Given the description of an element on the screen output the (x, y) to click on. 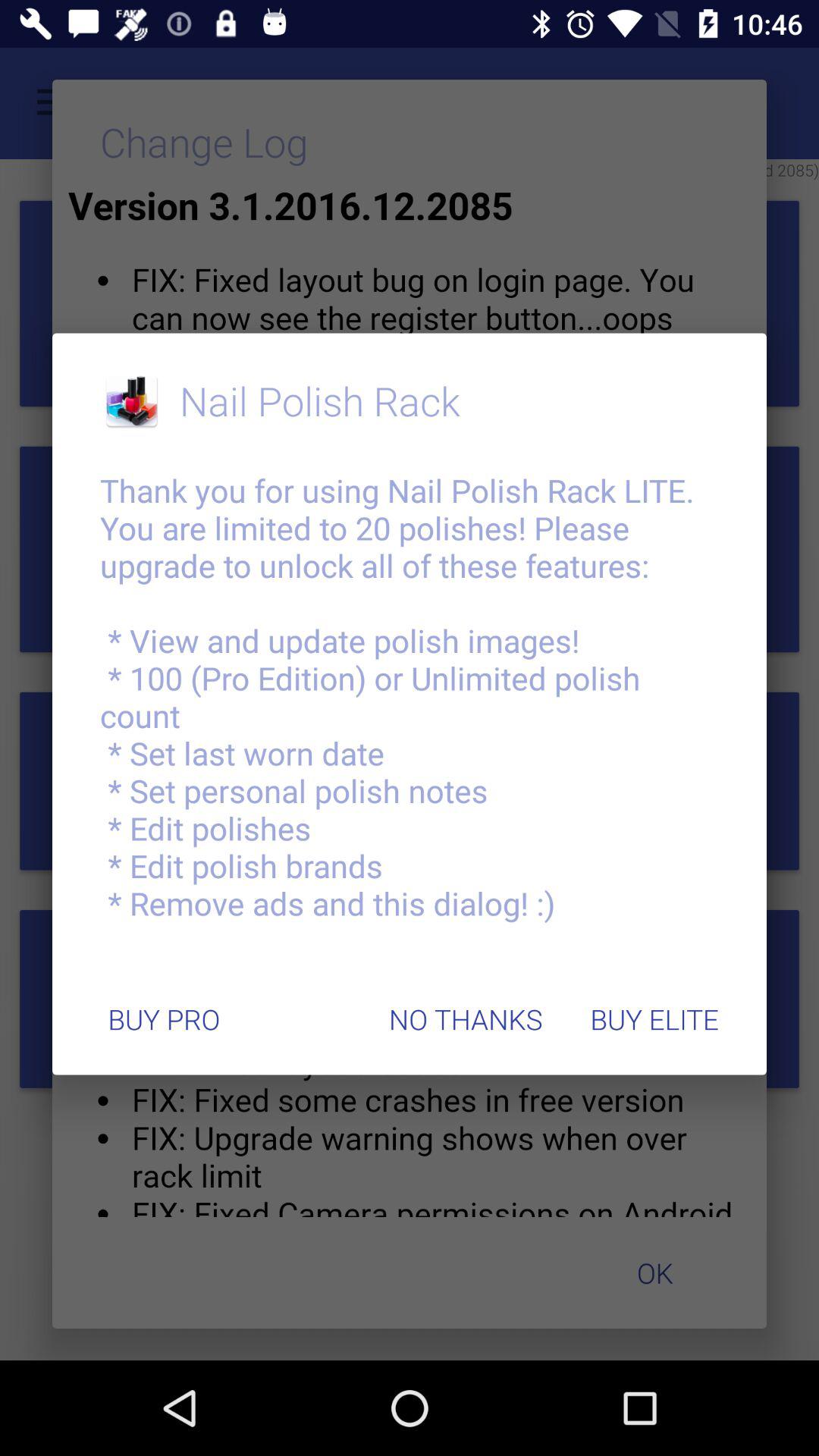
click item to the right of the buy pro (465, 1018)
